Given the description of an element on the screen output the (x, y) to click on. 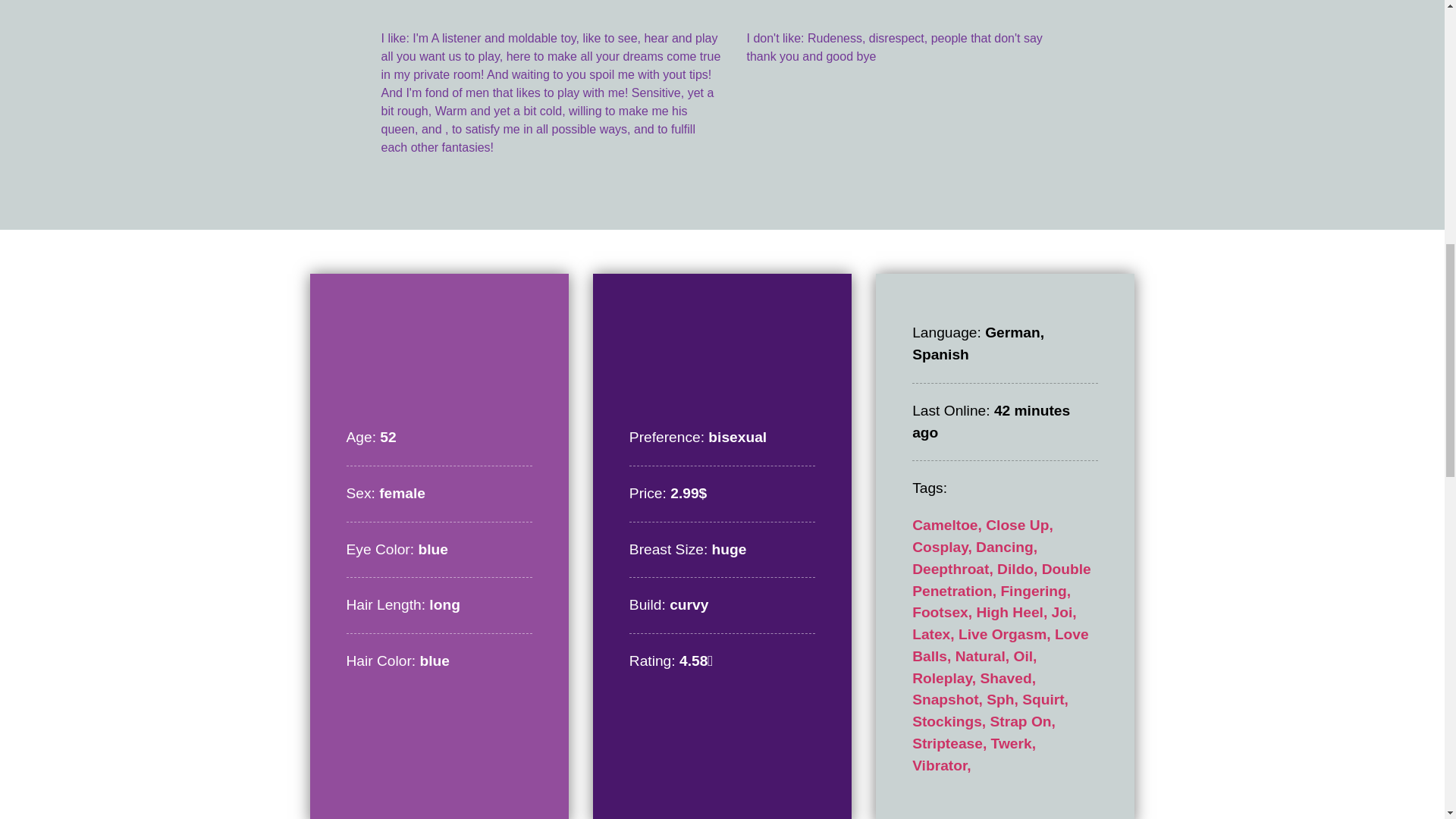
Cameltoe (948, 524)
Cosplay (943, 546)
Close Up (1018, 524)
